Given the description of an element on the screen output the (x, y) to click on. 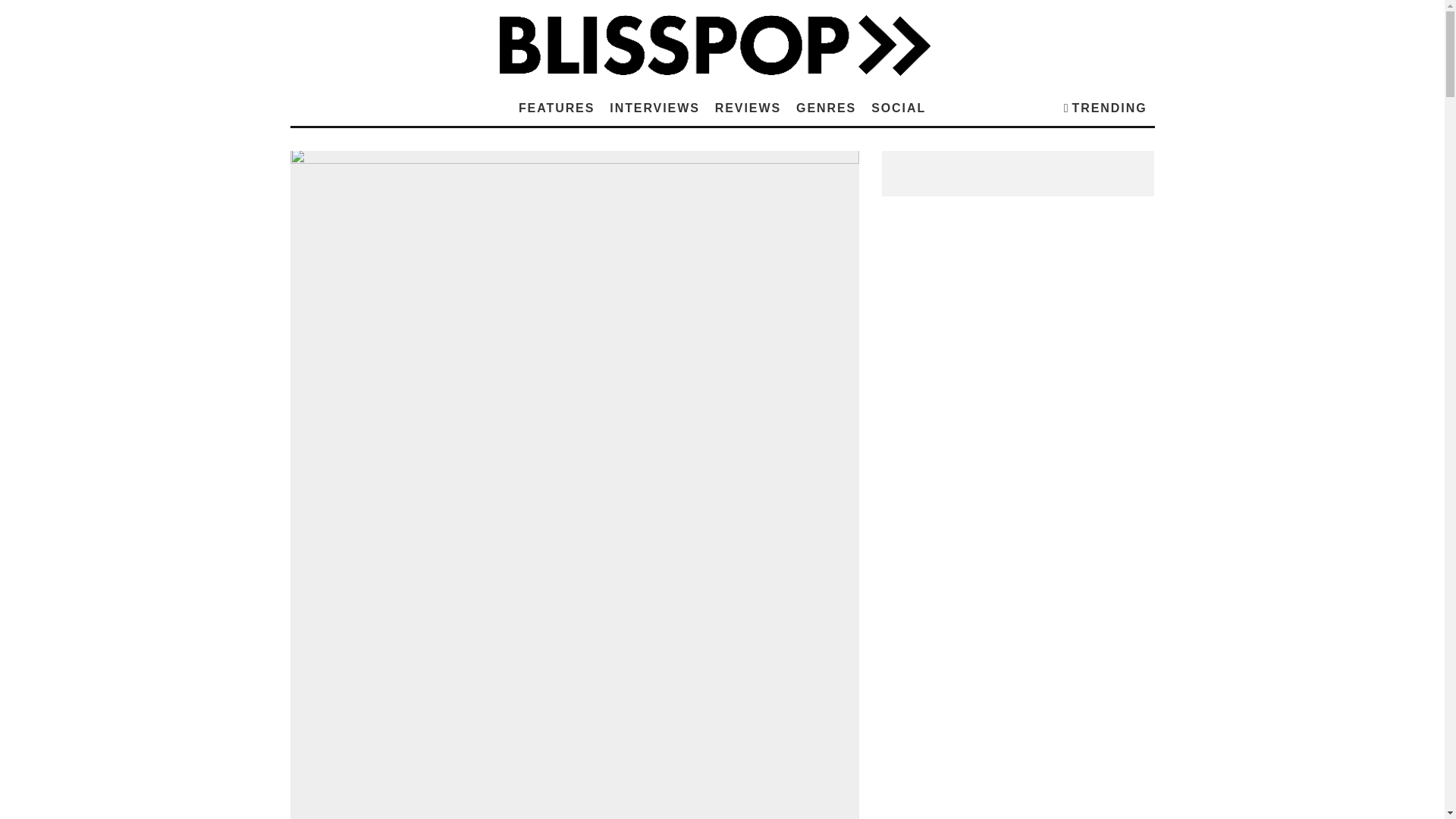
GENRES (826, 108)
INTERVIEWS (654, 108)
FEATURES (556, 108)
REVIEWS (748, 108)
